Given the description of an element on the screen output the (x, y) to click on. 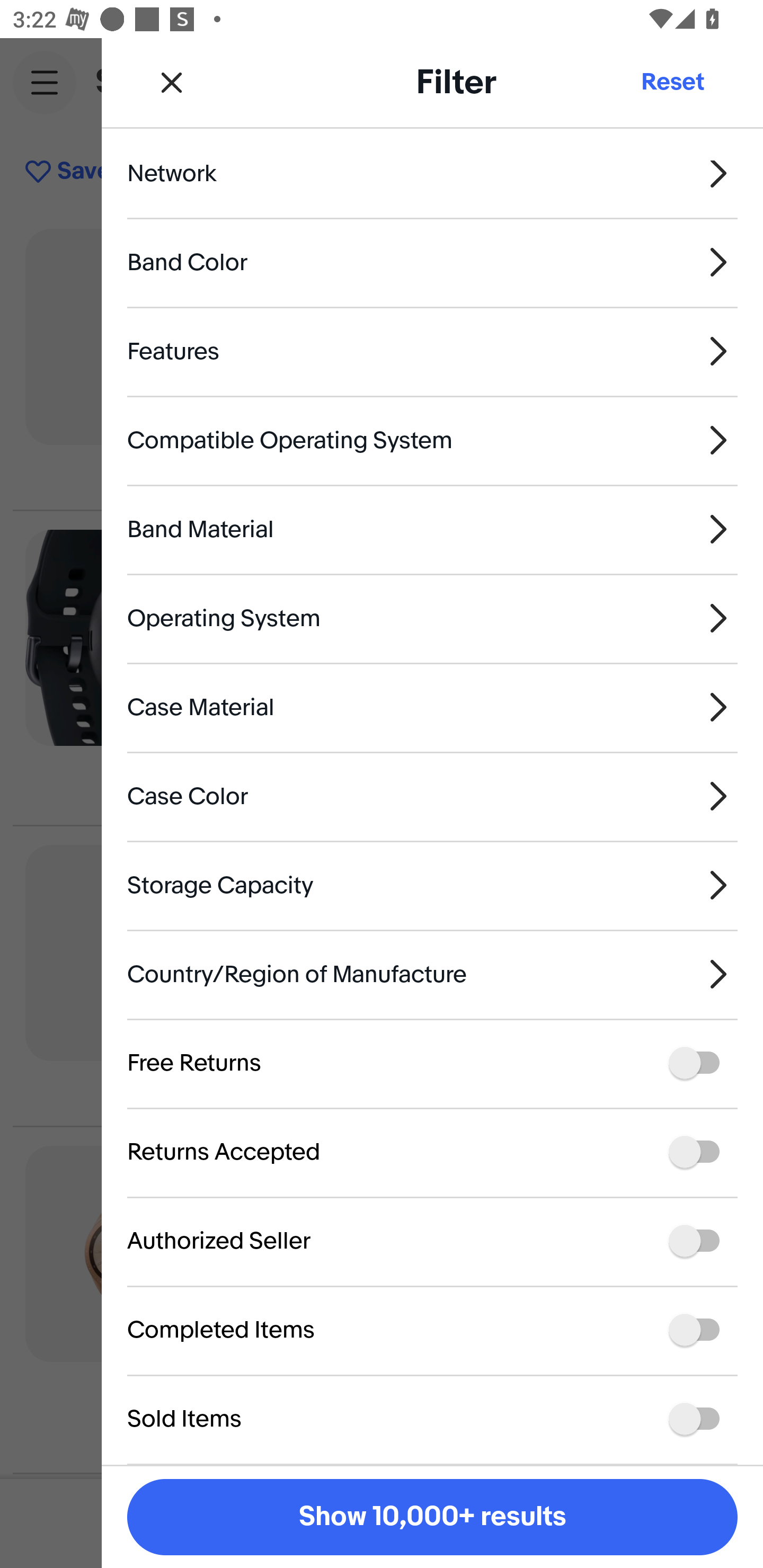
Close Filter (171, 81)
Reset (672, 81)
Network (432, 188)
Band Color (432, 262)
Features (432, 351)
Compatible Operating System (432, 439)
Band Material (432, 528)
Operating System (432, 618)
Case Material (432, 707)
Case Color (432, 795)
Storage Capacity (432, 884)
Country/Region of Manufacture (432, 974)
Free Returns (432, 1063)
Returns Accepted (432, 1151)
Authorized Seller (432, 1240)
Completed Items (432, 1330)
Sold Items (432, 1418)
Show 10,000+ results (432, 1516)
